Given the description of an element on the screen output the (x, y) to click on. 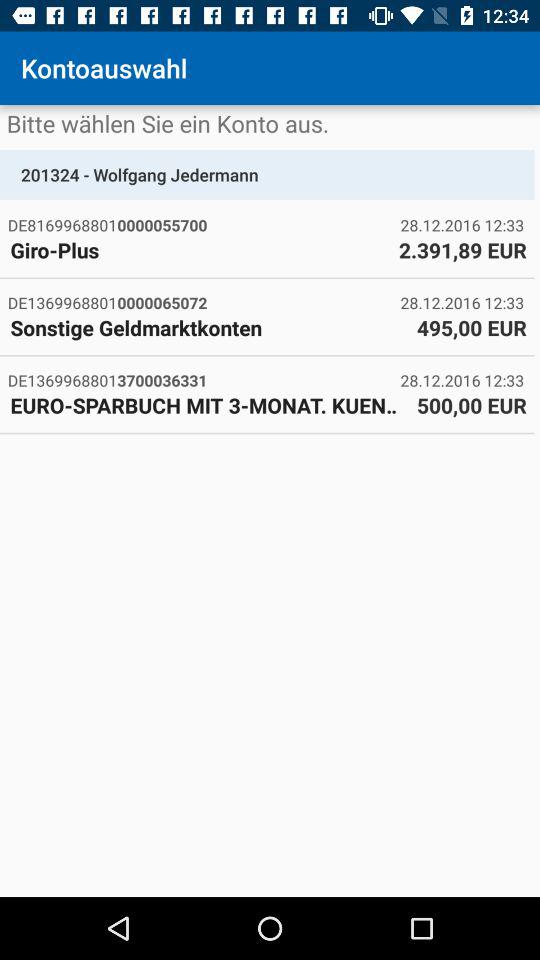
choose giro-plus (199, 249)
